Given the description of an element on the screen output the (x, y) to click on. 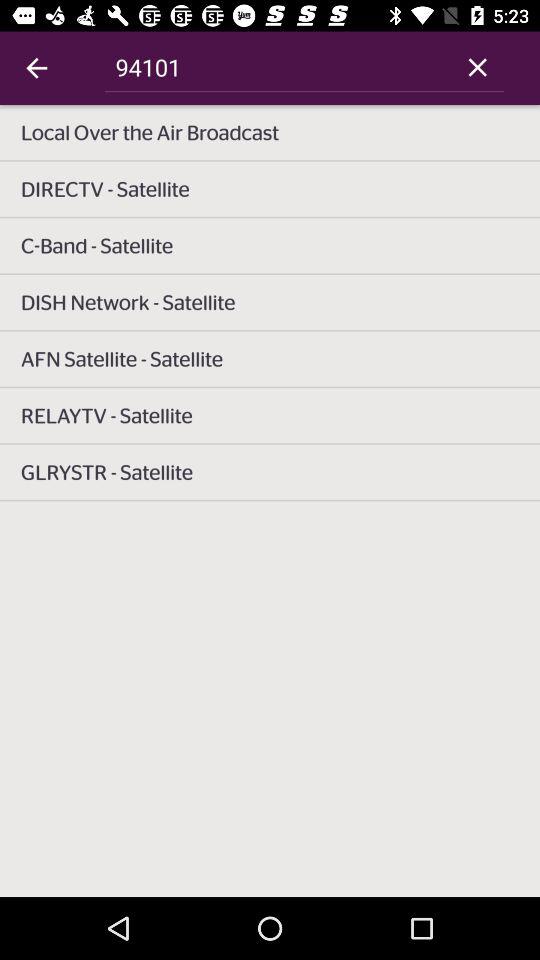
tap icon next to 94101 icon (477, 67)
